Given the description of an element on the screen output the (x, y) to click on. 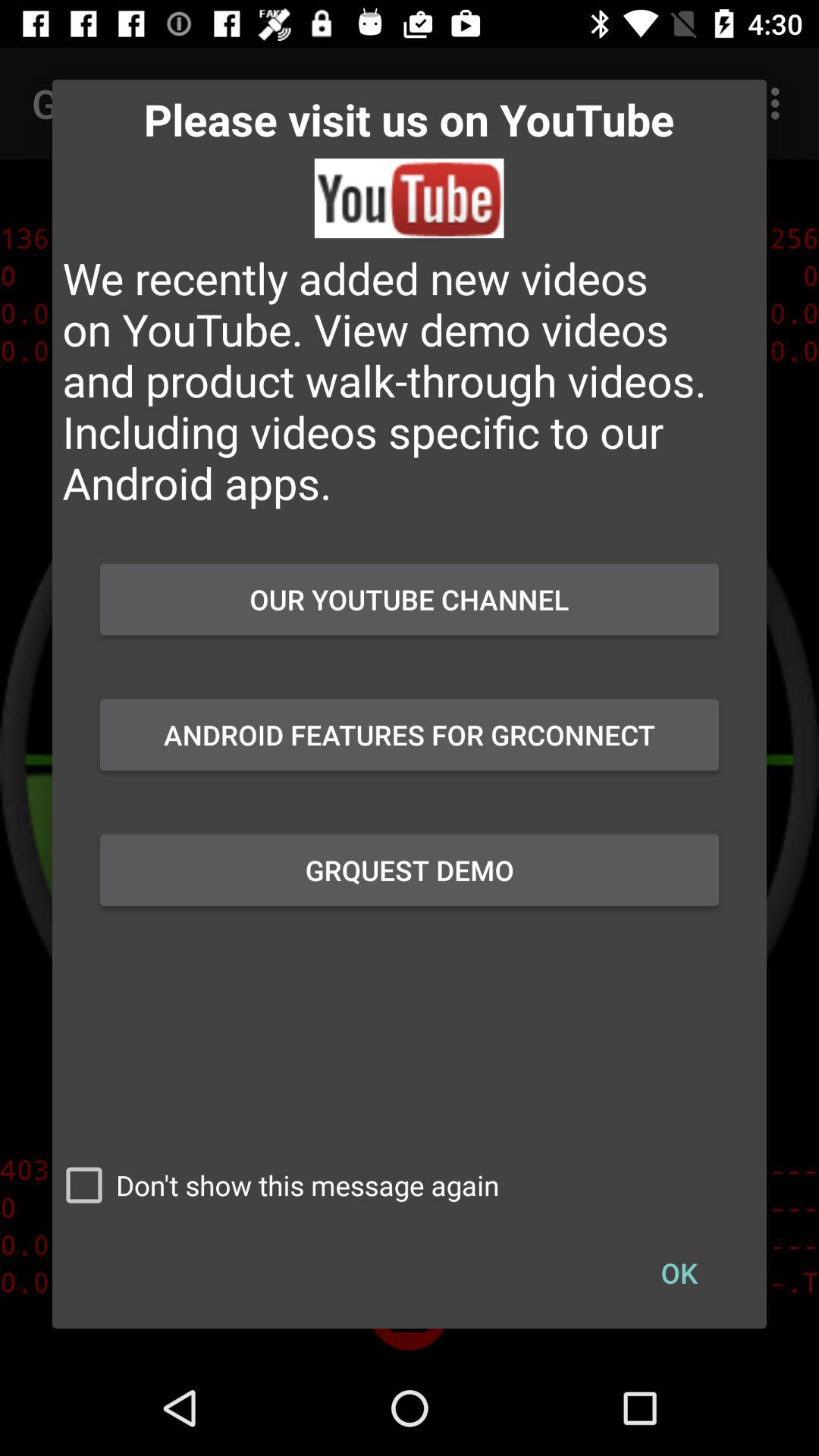
jump to the grquest demo (409, 869)
